Given the description of an element on the screen output the (x, y) to click on. 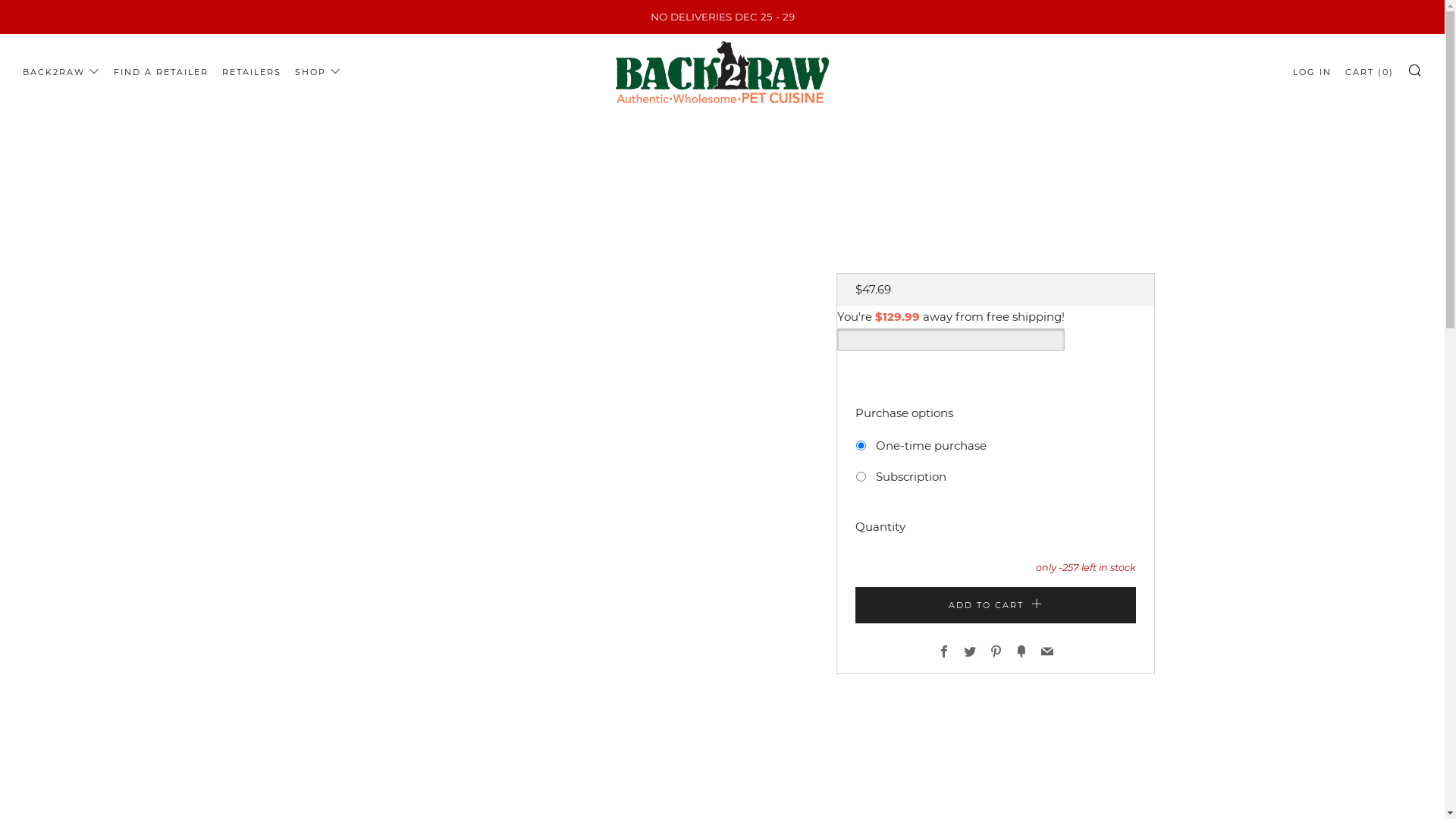
Pinterest Element type: text (994, 652)
Email Element type: text (1046, 652)
SEARCH Element type: text (1414, 68)
Facebook Element type: text (943, 652)
Fancy Element type: text (1020, 652)
FIND A RETAILER Element type: text (160, 71)
BACK2RAW Element type: text (61, 71)
CART (0) Element type: text (1369, 71)
Twitter Element type: text (969, 652)
ADD TO CART Element type: text (995, 604)
LOG IN Element type: text (1311, 71)
SHOP Element type: text (317, 71)
RETAILERS Element type: text (251, 71)
